Given the description of an element on the screen output the (x, y) to click on. 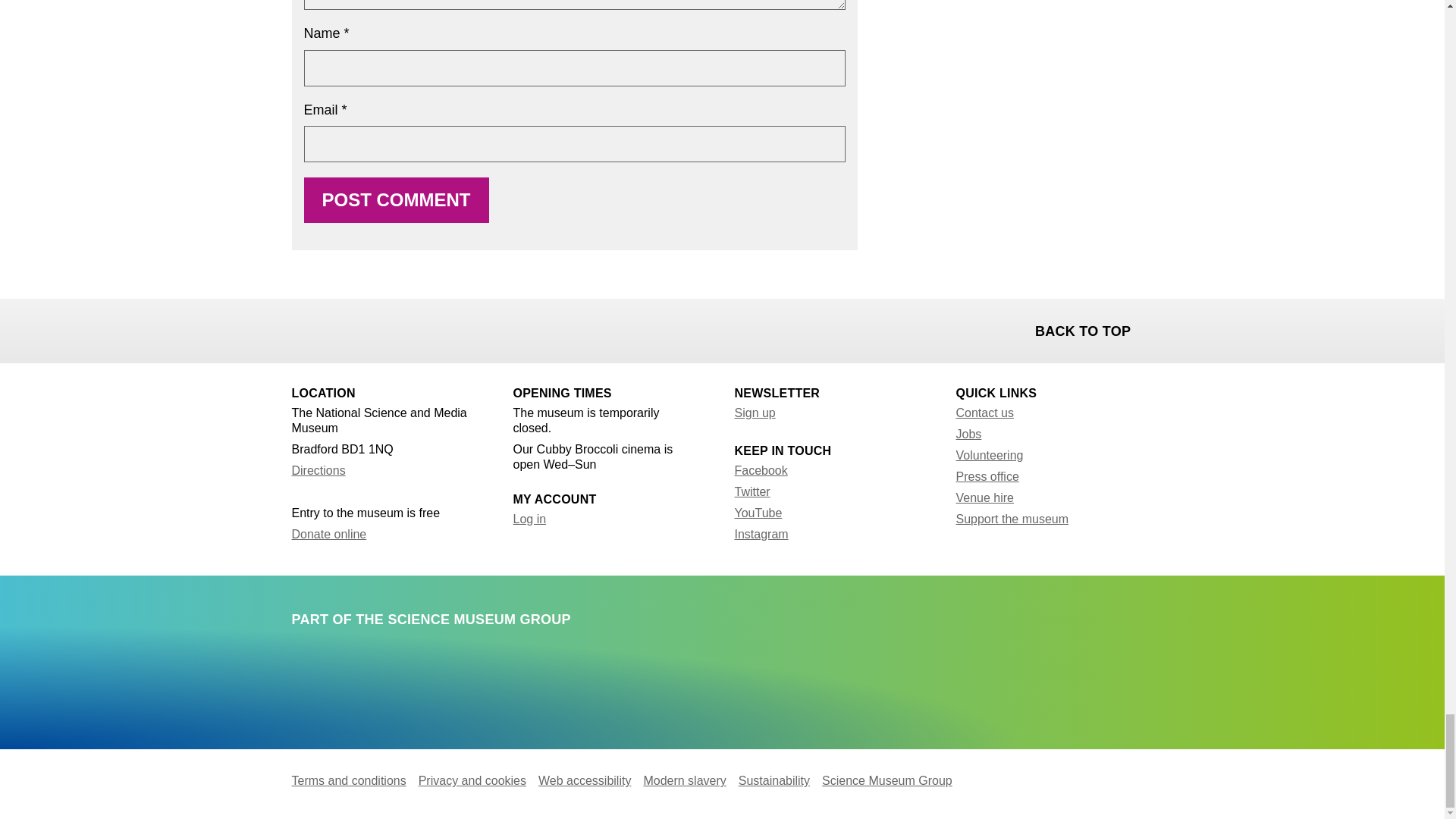
Tweet this (344, 329)
Share on facebook (304, 329)
Post Comment (394, 199)
Post Comment (394, 199)
Share by email (384, 329)
